Given the description of an element on the screen output the (x, y) to click on. 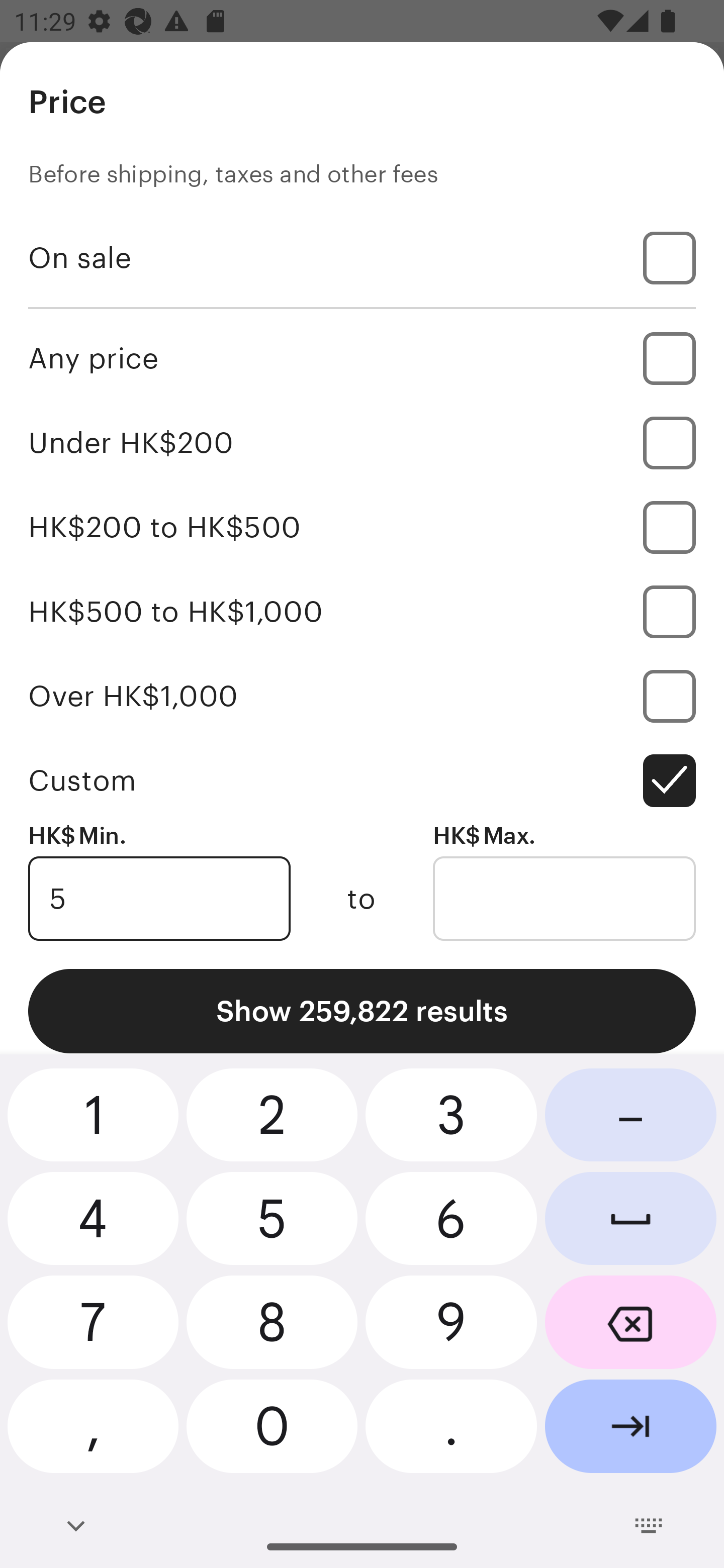
On sale (362, 257)
Any price (362, 357)
Under HK$200 (362, 441)
HK$200 to HK$500 (362, 526)
HK$500 to HK$1,000 (362, 611)
Over HK$1,000 (362, 695)
Custom (362, 780)
5 (159, 898)
Show 259,822 results (361, 1011)
